Given the description of an element on the screen output the (x, y) to click on. 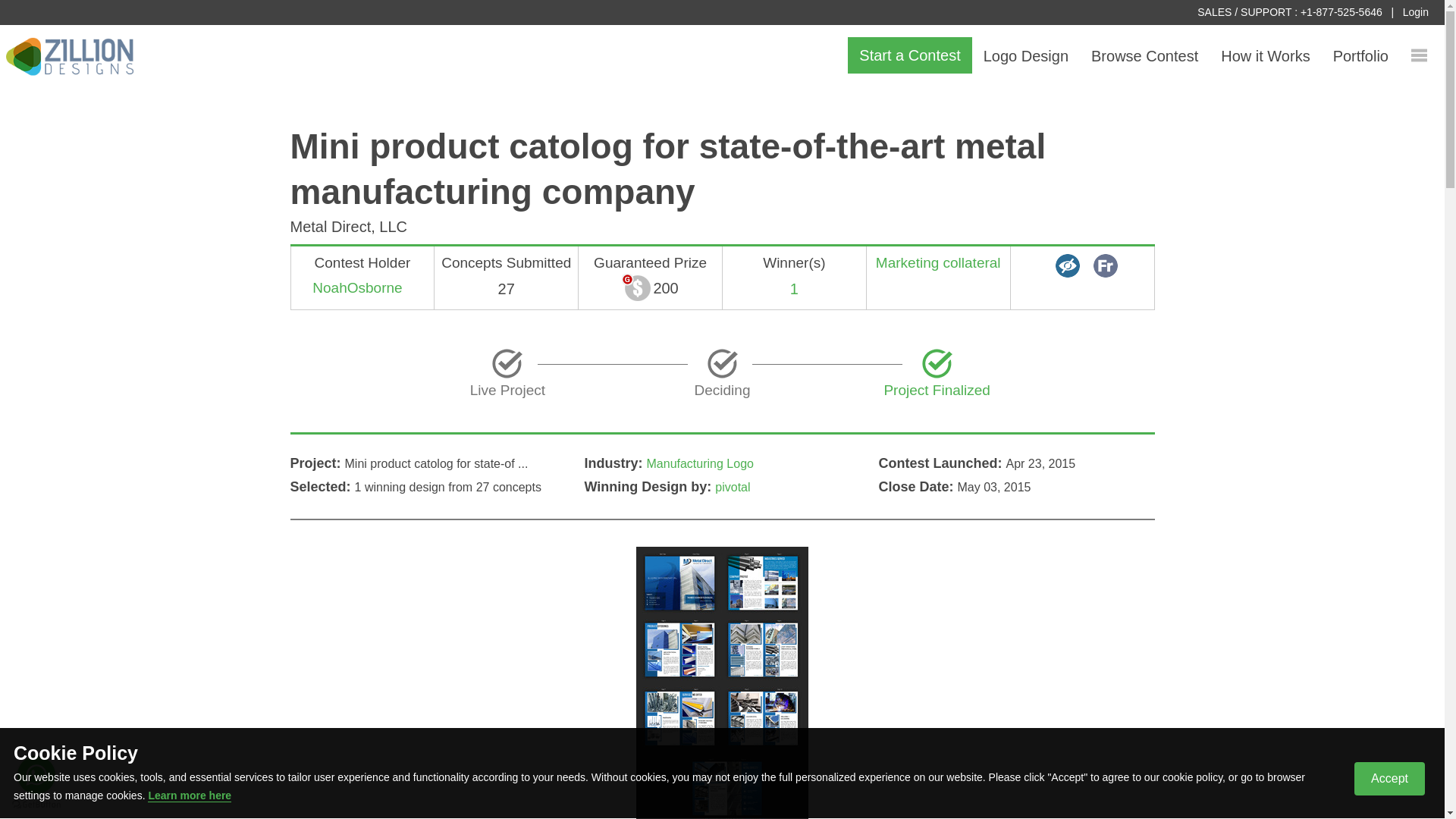
How it Works (1264, 56)
pivotal (731, 486)
Portfolio (1360, 56)
Featured Contest (1105, 265)
Marketing collateral (938, 262)
logo (69, 56)
Logo Design (1026, 56)
Browse Contest (1144, 56)
Manufacturing Logo (699, 463)
NoahOsborne (357, 287)
Start a Contest (909, 55)
Login (1415, 11)
logo (69, 57)
